Given the description of an element on the screen output the (x, y) to click on. 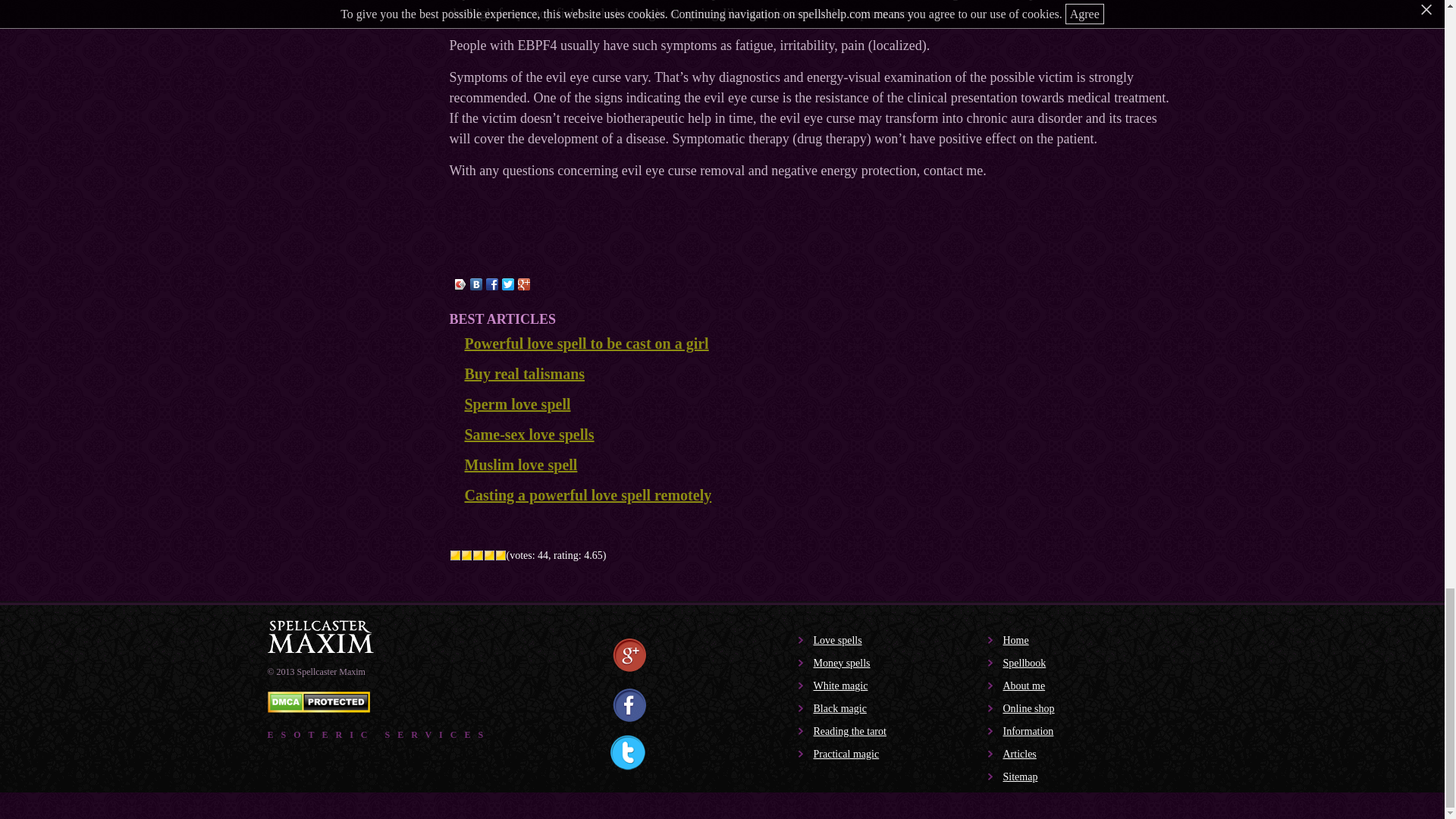
LiveInternet (11, 803)
twitter spellcaster Maxim (627, 752)
5 (500, 555)
3 (477, 555)
2 (466, 555)
1 (454, 555)
4 (489, 555)
google plus spellcaster Maxim (628, 656)
